Given the description of an element on the screen output the (x, y) to click on. 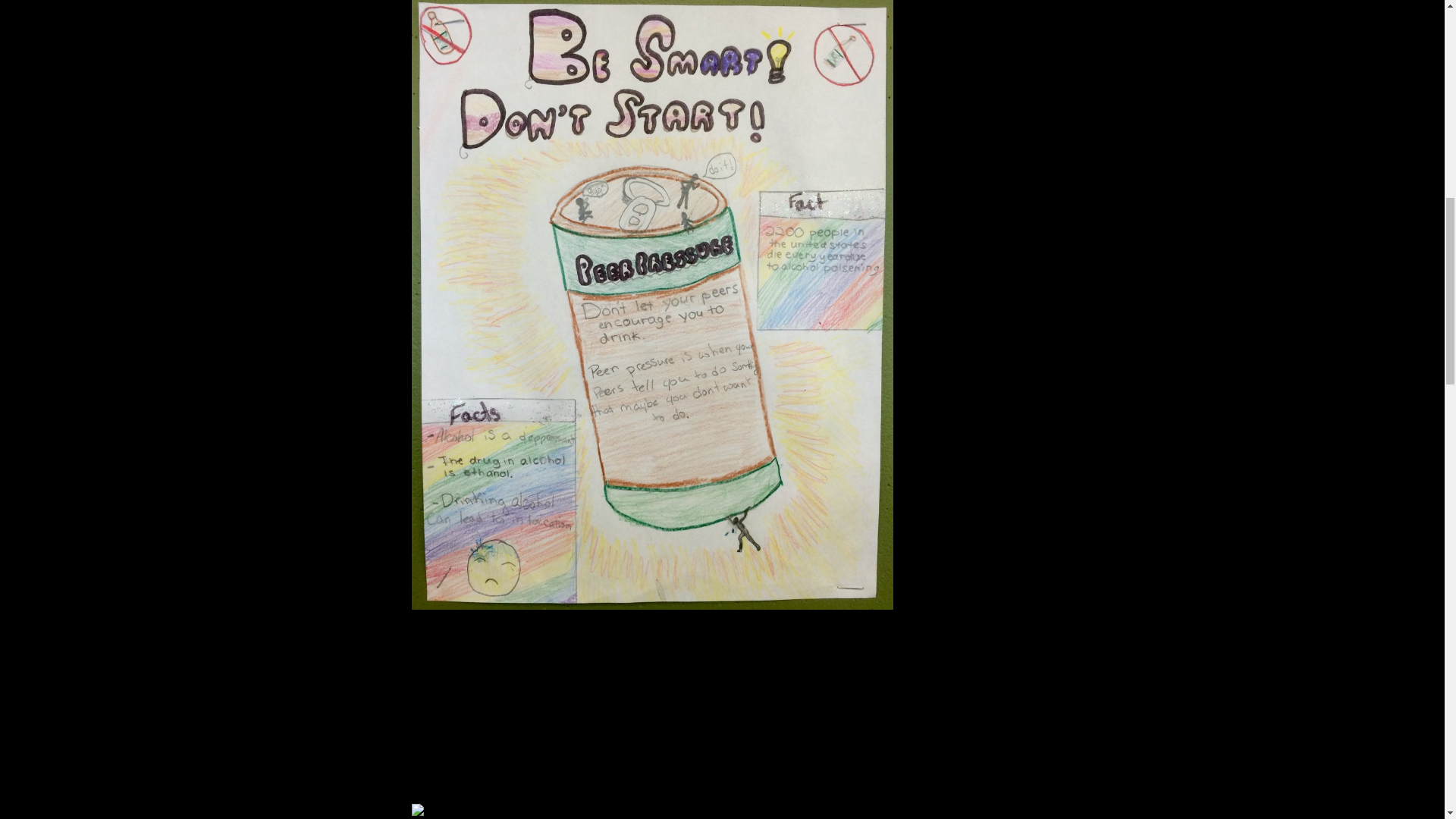
Education (976, 6)
Learning (972, 46)
Education System (997, 19)
Personal (973, 59)
Teaching (973, 72)
Ideas (963, 32)
